Given the description of an element on the screen output the (x, y) to click on. 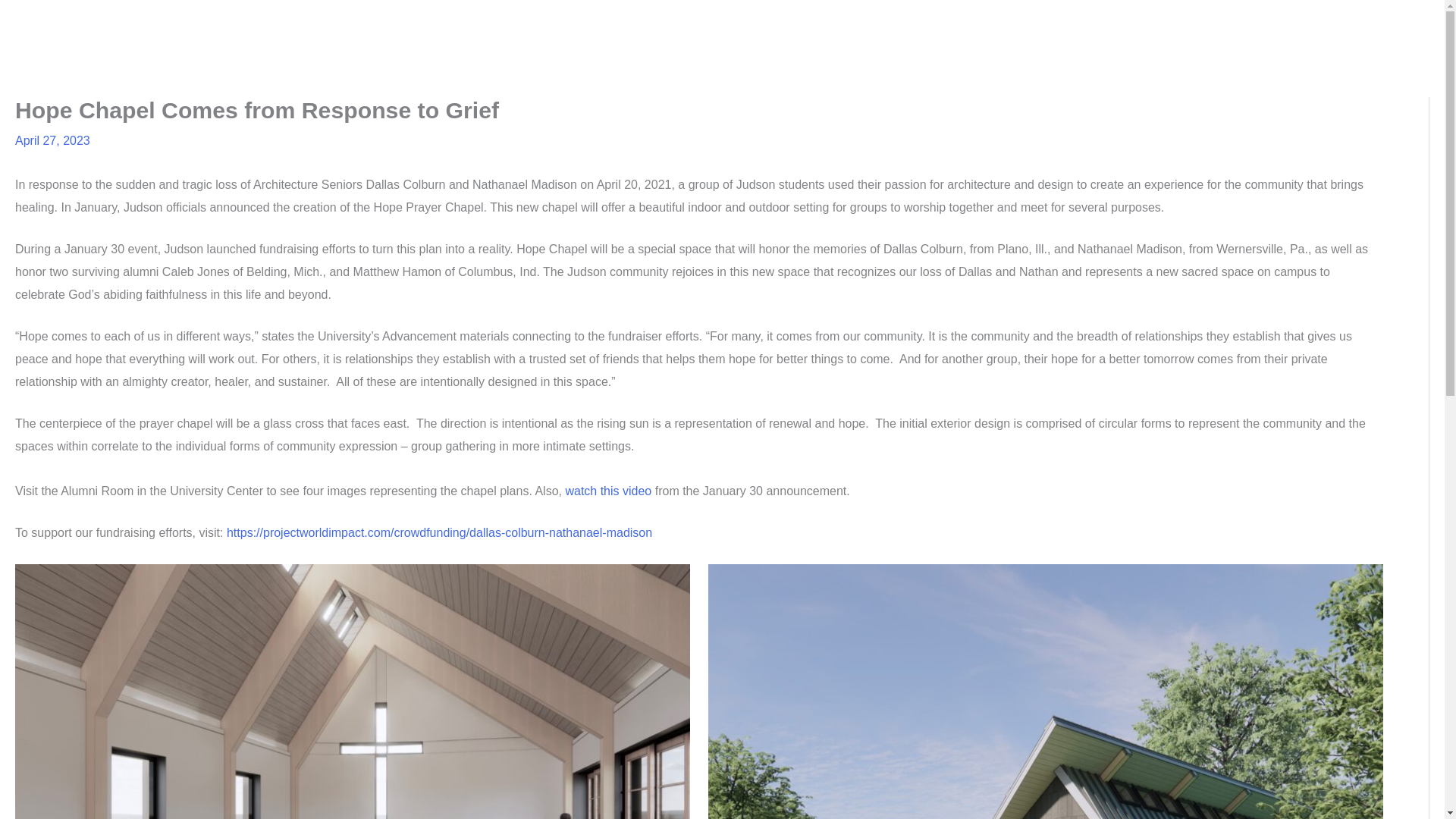
ATHLETICS SCHEDULE (1128, 24)
BIRTHDAYS (1006, 24)
HOME (804, 24)
RECENT STORIES (897, 24)
HELPFUL LINKS (1262, 24)
watch this video (607, 490)
JUDSONU.EDU (1374, 24)
